Given the description of an element on the screen output the (x, y) to click on. 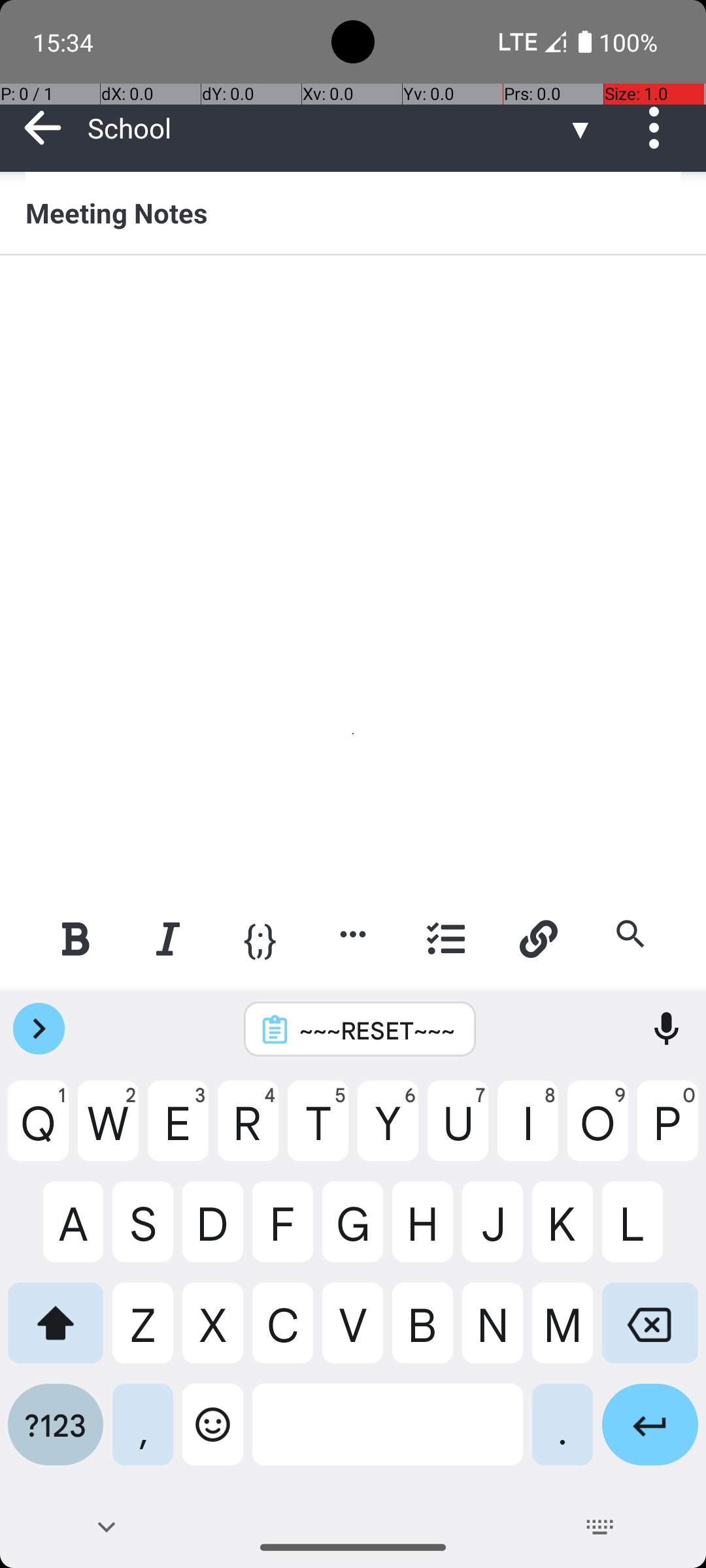
Meeting Notes Element type: android.widget.EditText (352, 212)

 Element type: android.widget.EditText (354, 297)
